Given the description of an element on the screen output the (x, y) to click on. 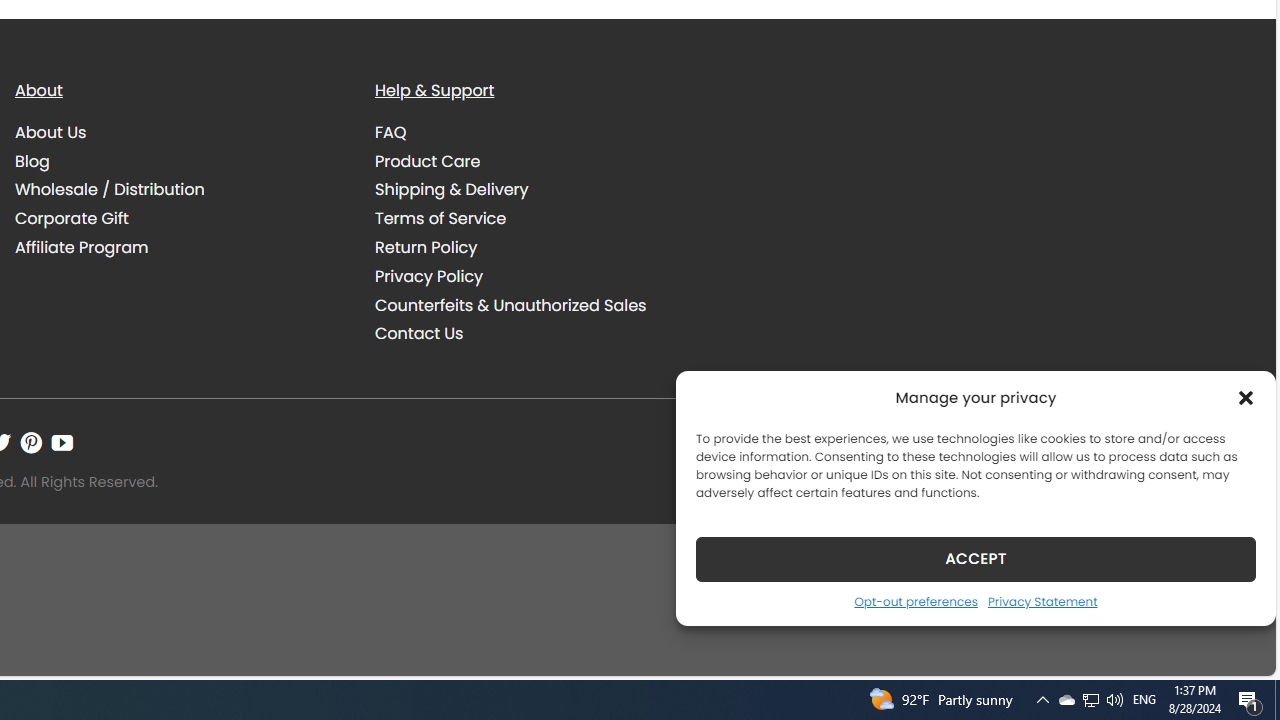
Corporate Gift (180, 218)
Go to top (1234, 647)
Shipping & Delivery (540, 190)
